Given the description of an element on the screen output the (x, y) to click on. 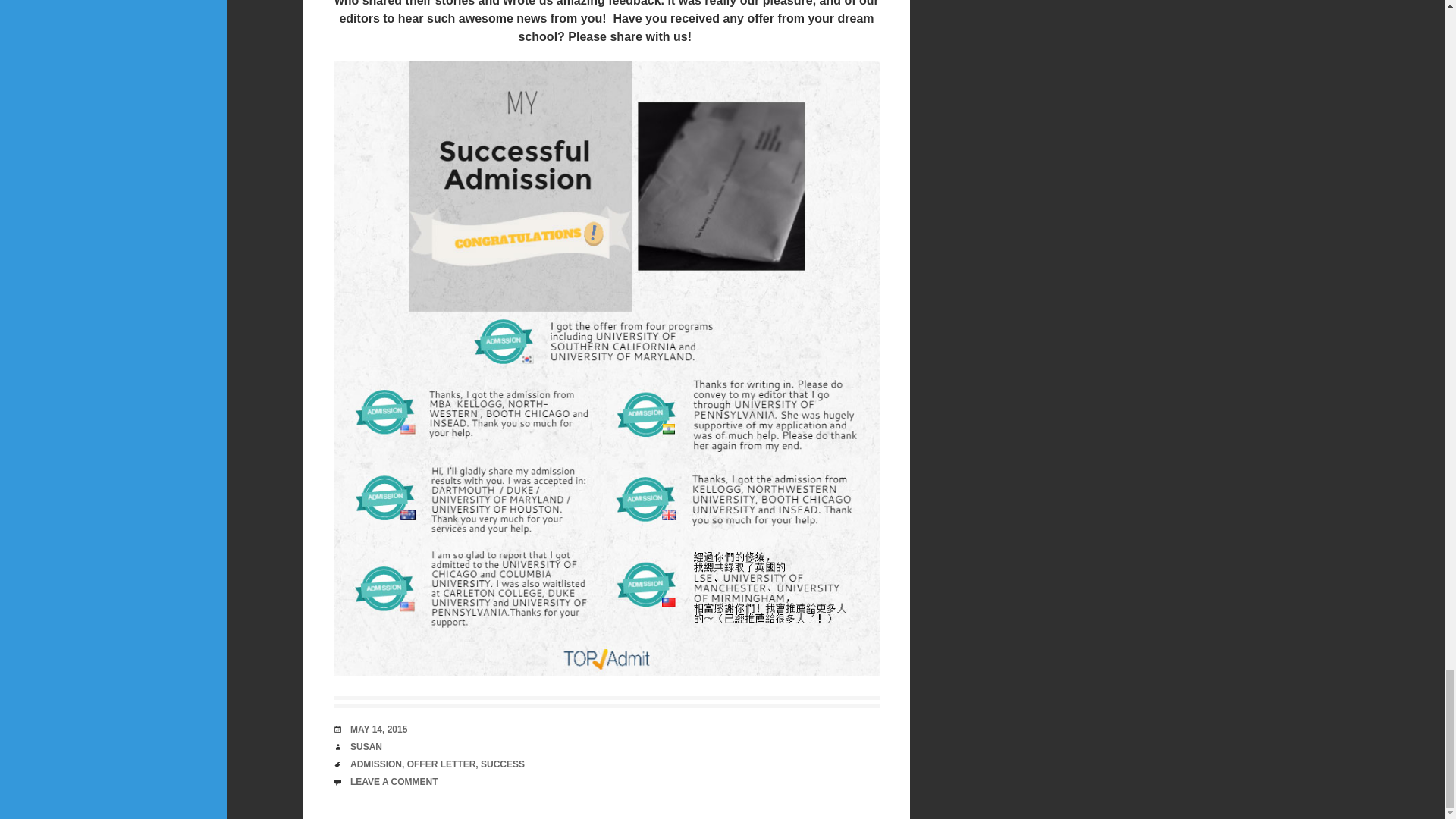
5:54 am (378, 728)
View all posts by Susan (365, 747)
